Given the description of an element on the screen output the (x, y) to click on. 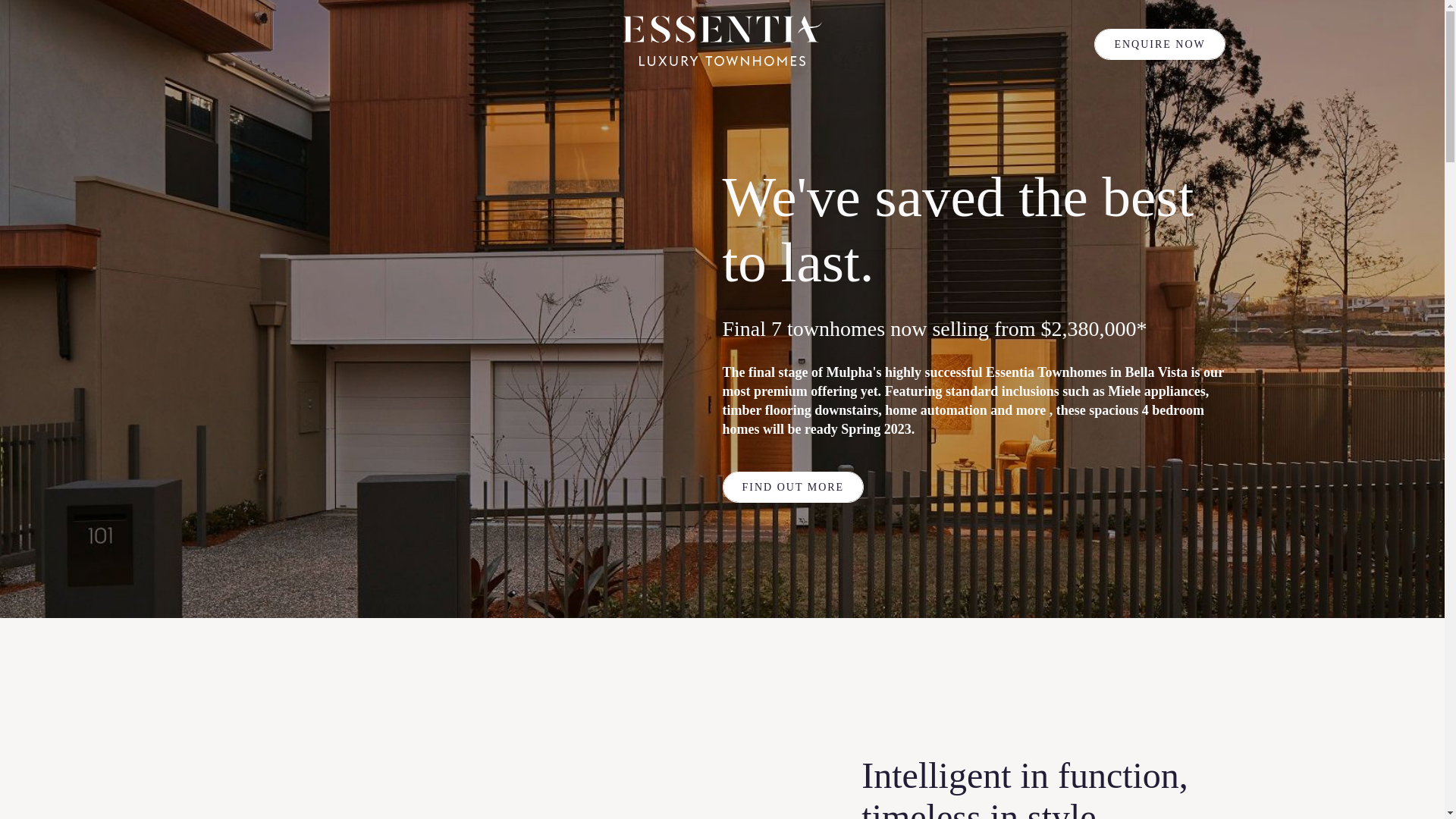
FIND OUT MORE Element type: text (792, 486)
ENQUIRE NOW Element type: text (1159, 43)
